Given the description of an element on the screen output the (x, y) to click on. 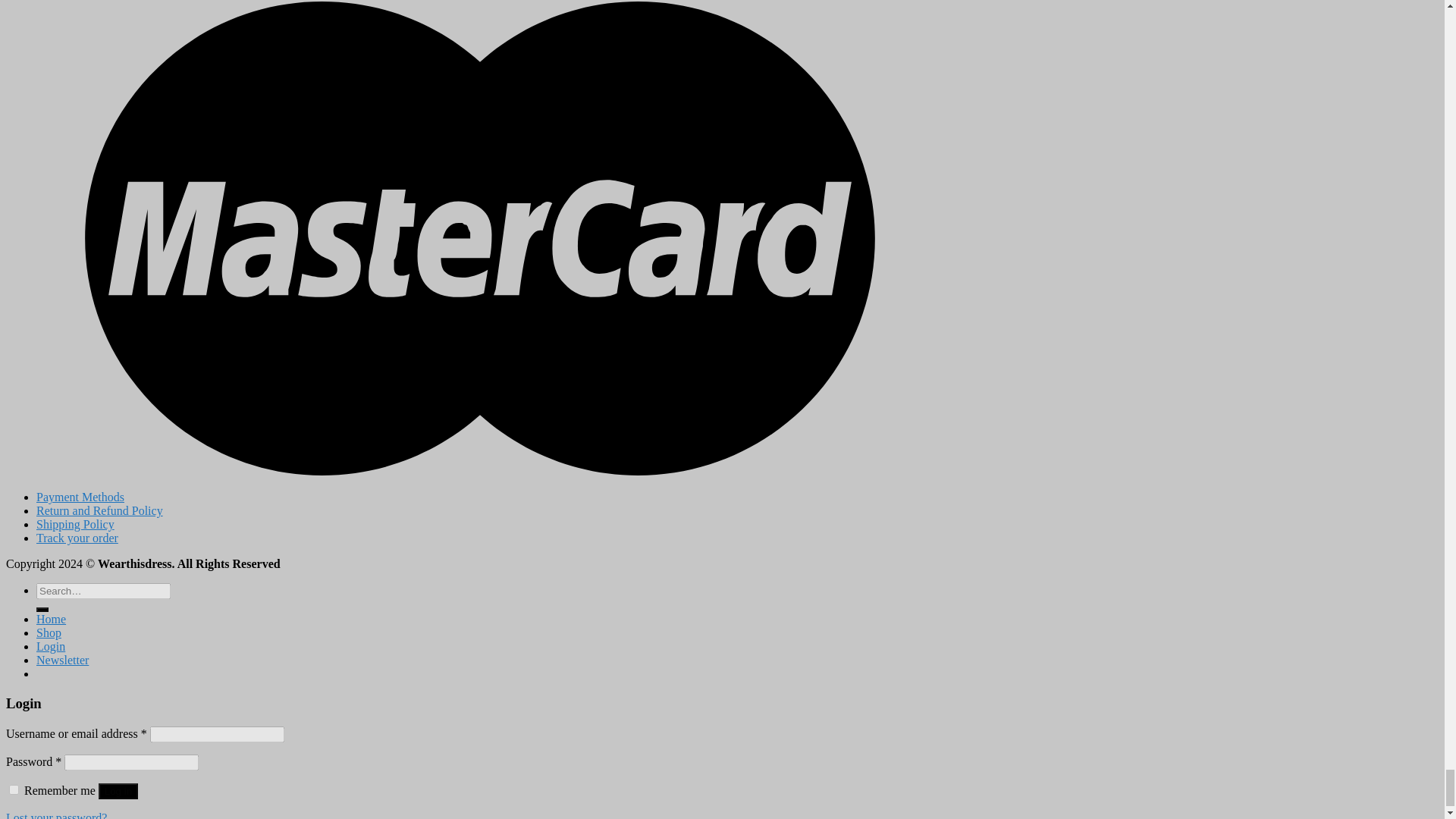
forever (13, 788)
